Given the description of an element on the screen output the (x, y) to click on. 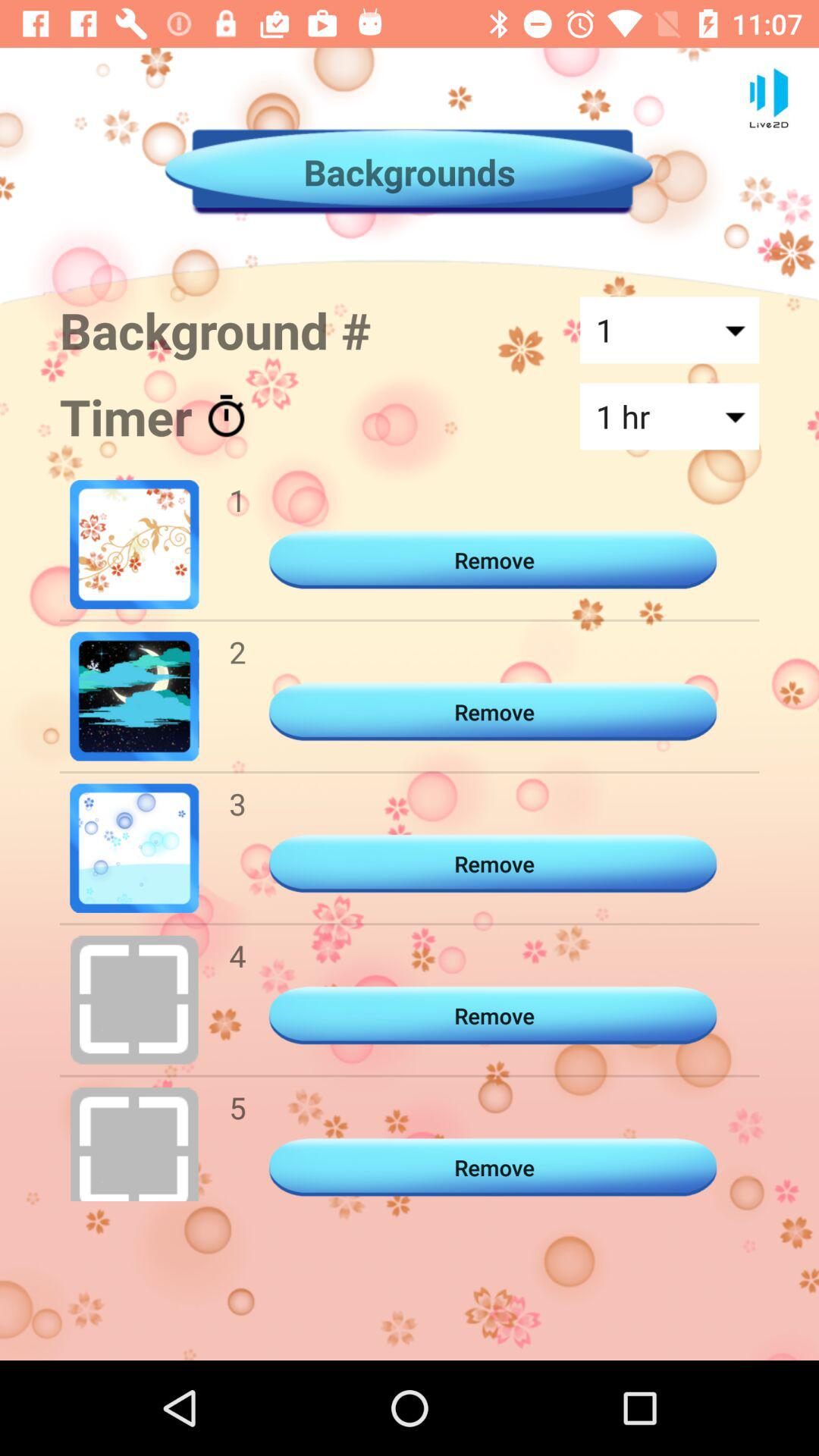
tap icon to the left of remove item (237, 955)
